Given the description of an element on the screen output the (x, y) to click on. 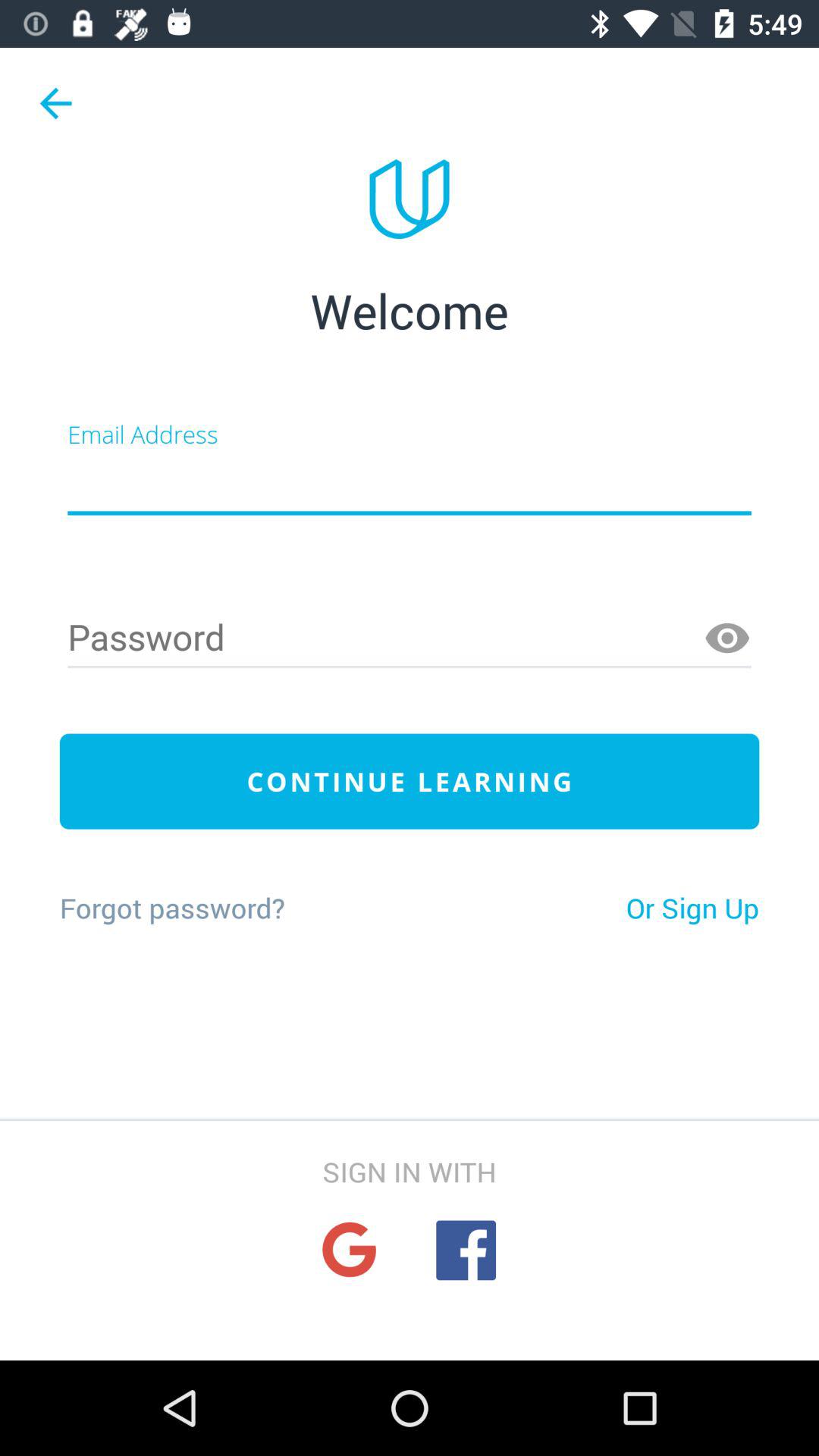
enter email (409, 483)
